Given the description of an element on the screen output the (x, y) to click on. 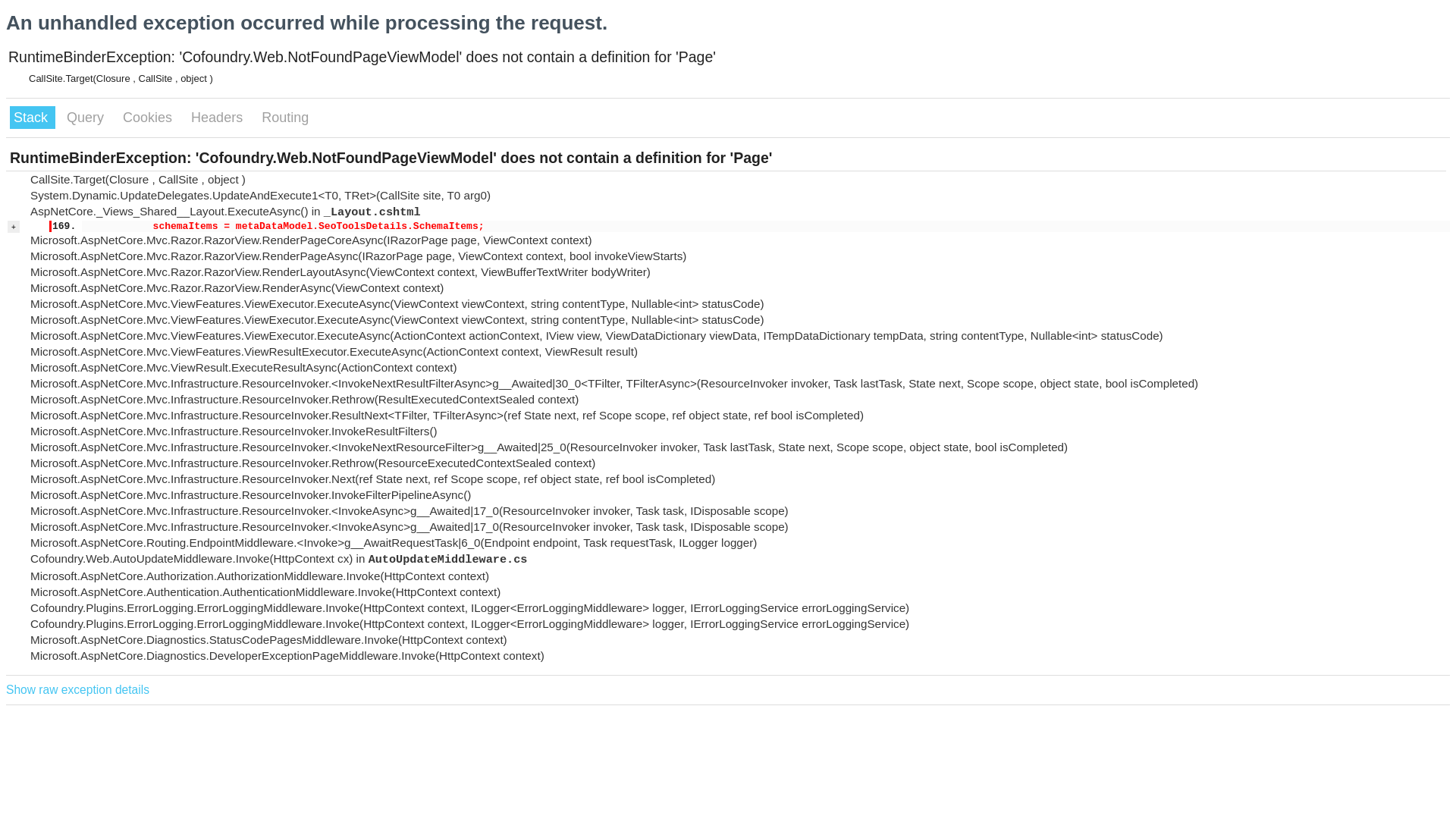
Show raw exception details Element type: text (77, 689)
+ Element type: text (13, 226)
